Given the description of an element on the screen output the (x, y) to click on. 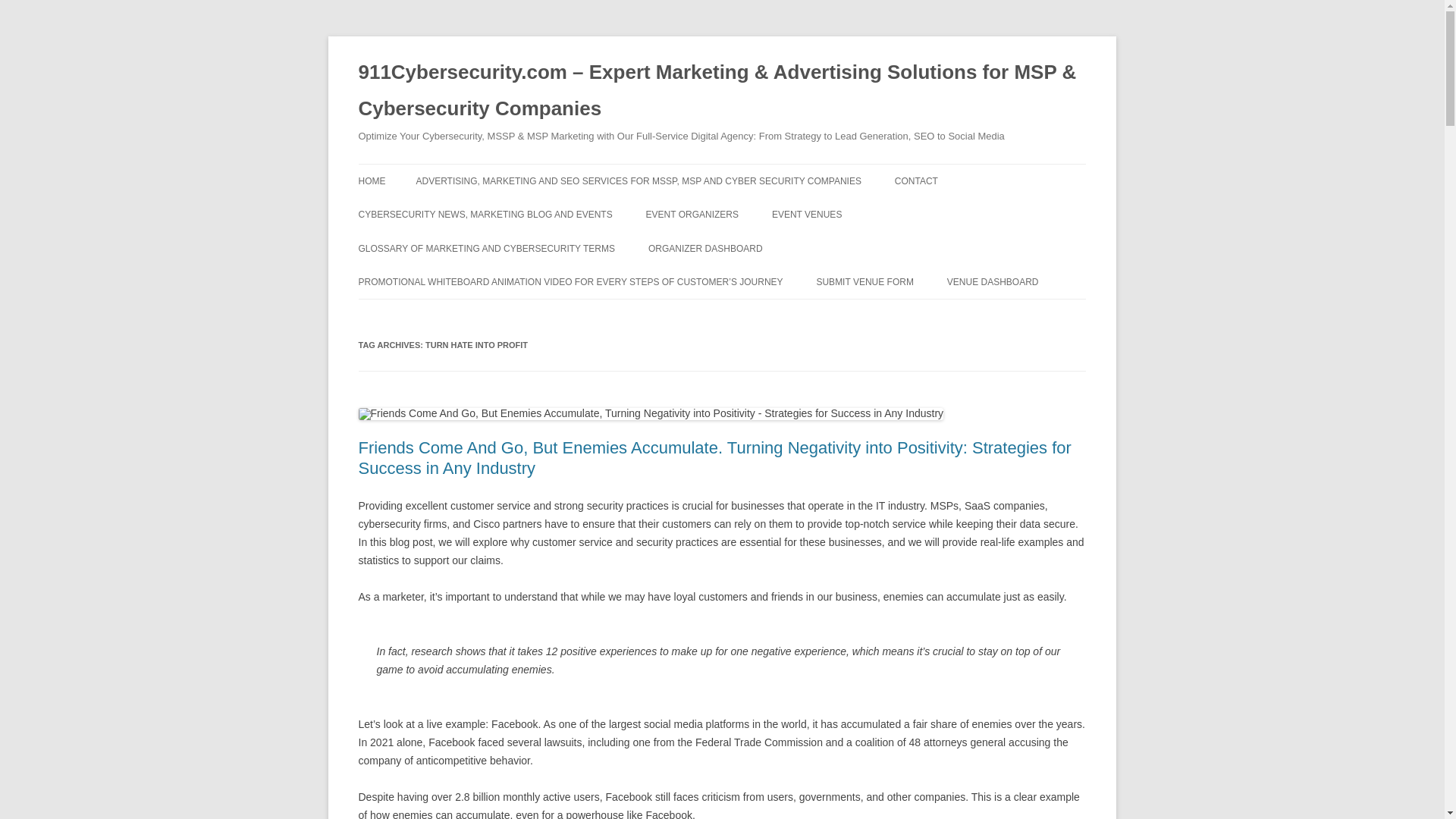
CYBERSECURITY NEWS, MARKETING BLOG AND EVENTS (484, 214)
SUBMIT VENUE FORM (863, 281)
EVENT ORGANIZERS (692, 214)
ORGANIZER DASHBOARD (704, 248)
VENUE DASHBOARD (993, 281)
CONTACT (916, 181)
GLOSSARY OF MARKETING AND CYBERSECURITY TERMS (486, 248)
EVENT VENUES (806, 214)
HOME (371, 181)
